Given the description of an element on the screen output the (x, y) to click on. 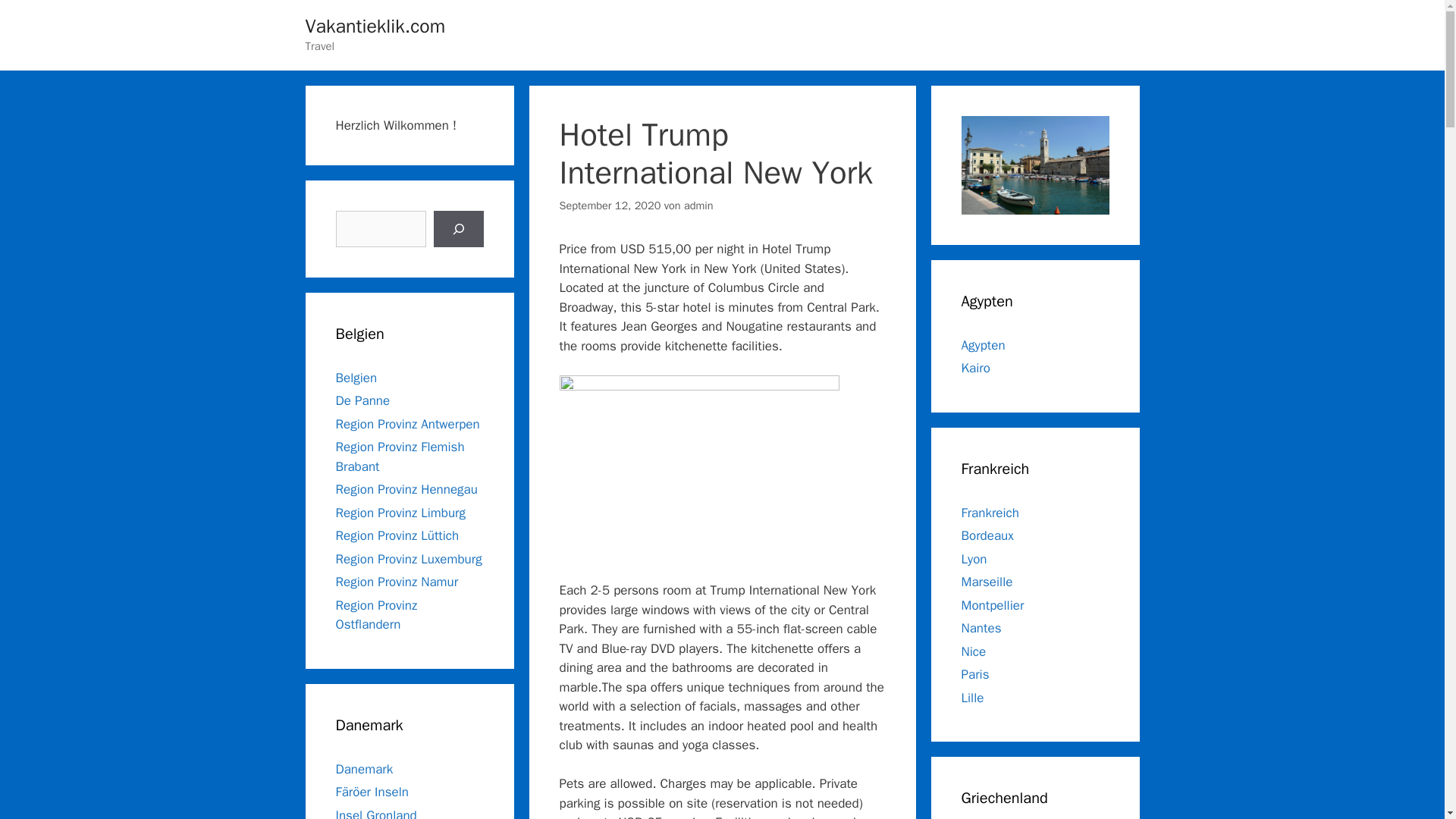
Region Provinz Flemish Brabant (399, 456)
Region Provinz Hennegau (405, 489)
Region Provinz Luxemburg (407, 558)
Region Provinz Antwerpen  (406, 423)
Belgien (355, 377)
Region Provinz Ostflandern (375, 615)
Insel Gronland (375, 812)
Region Provinz Limburg (399, 512)
Vakantieklik.com (374, 25)
Region Provinz Limburg (399, 512)
Region Provinz Flemish Brabant (399, 456)
De Panne (362, 400)
Region Provinz Namur (396, 581)
Danemark (363, 769)
admin (698, 205)
